Given the description of an element on the screen output the (x, y) to click on. 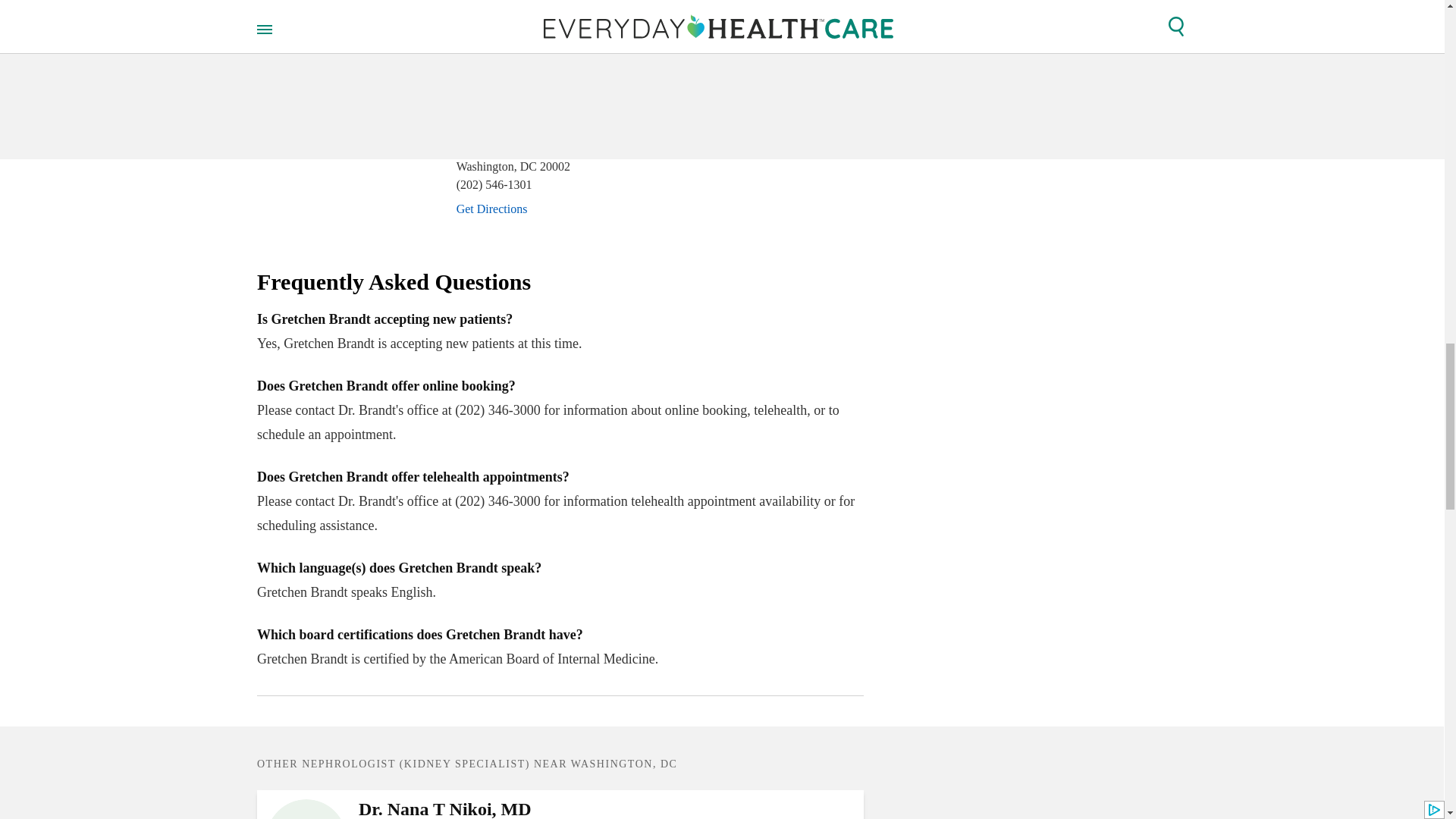
Get Directions (492, 78)
Dr. Nana T Nikoi, MD (606, 809)
Get Directions (492, 208)
